Given the description of an element on the screen output the (x, y) to click on. 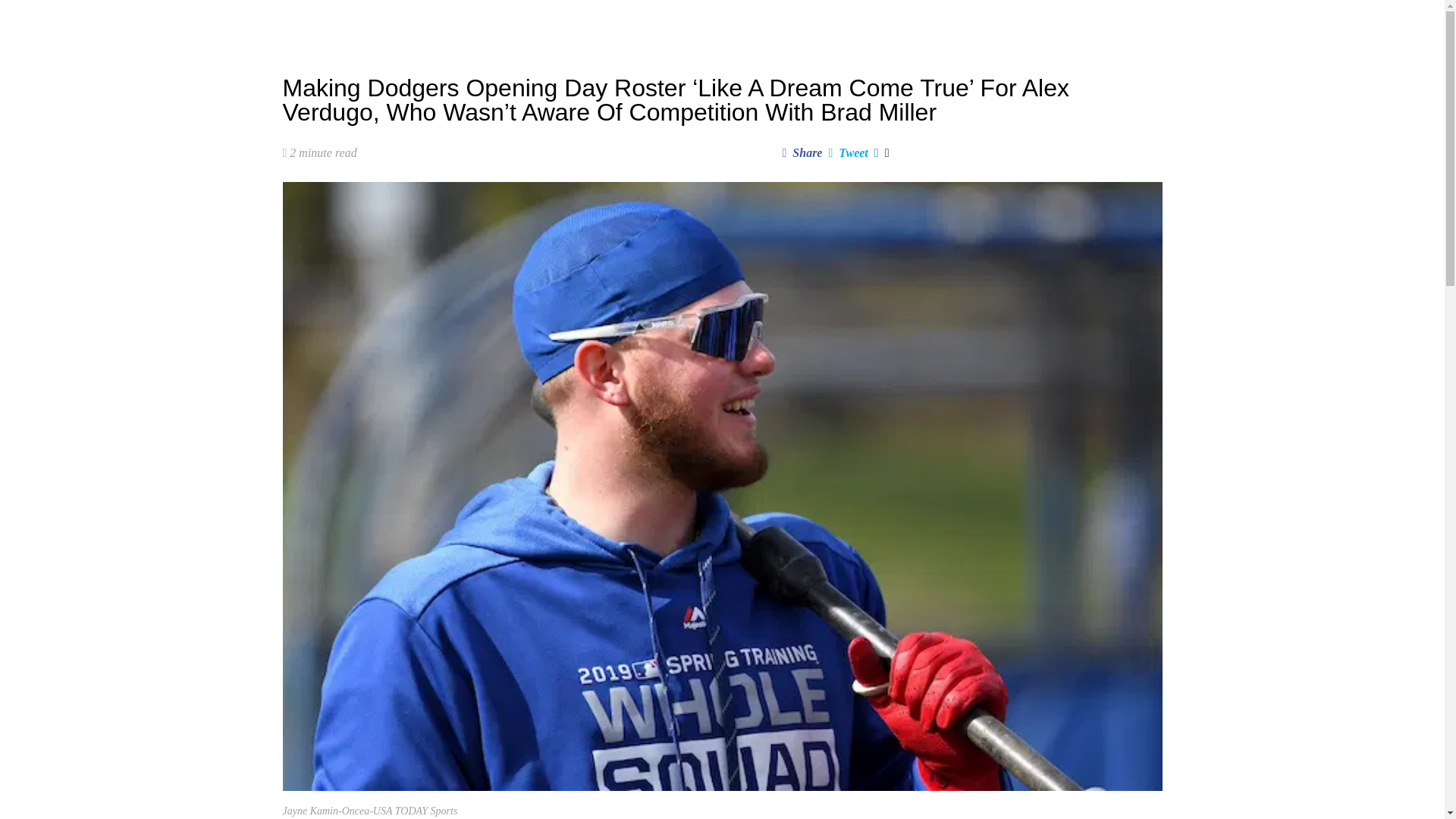
Dodgers News (440, 22)
Rumors (513, 22)
Schedules (578, 22)
Dodger Blue (322, 22)
Team (640, 22)
